Given the description of an element on the screen output the (x, y) to click on. 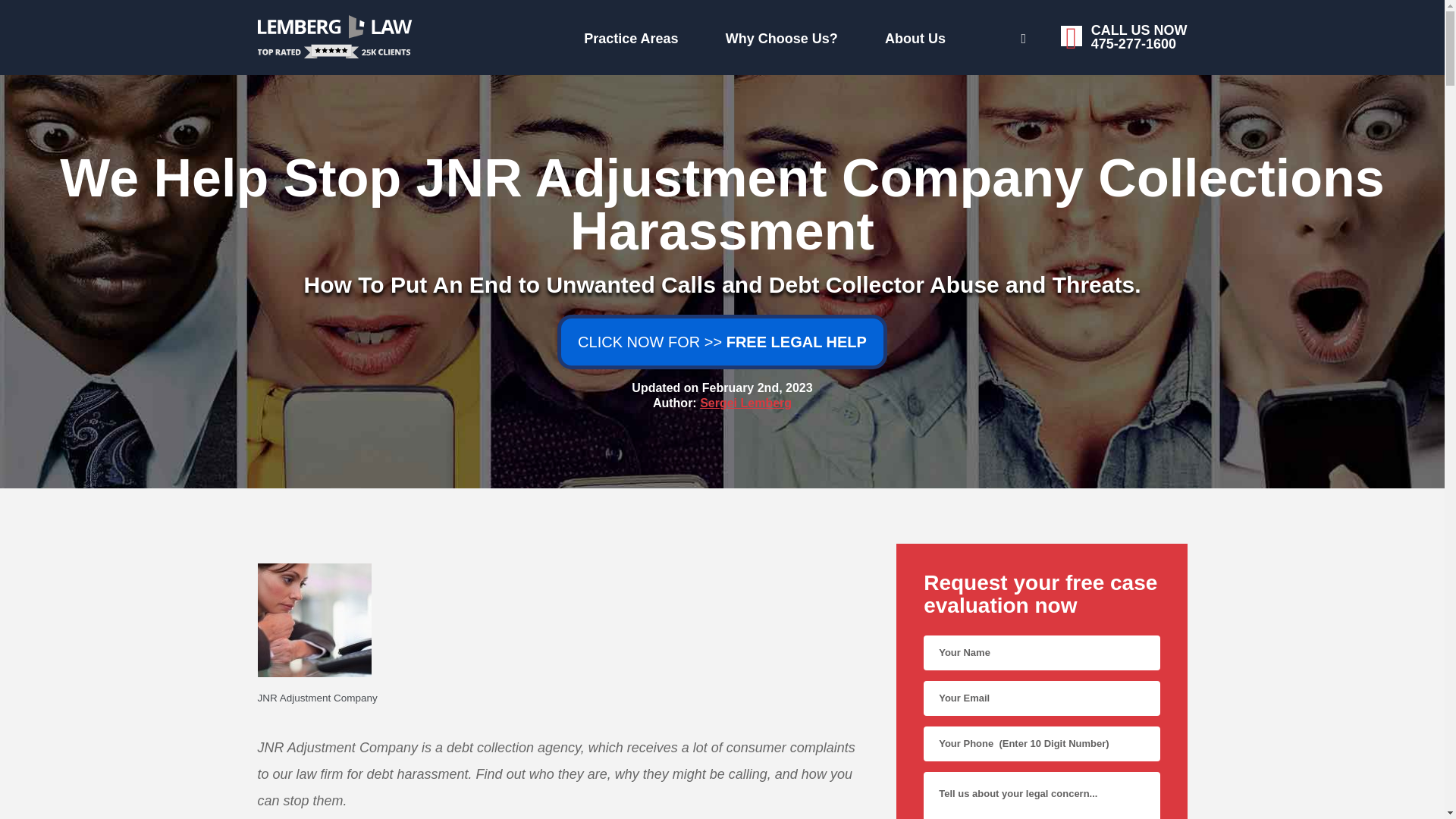
About Us (760, 35)
Sergei Lemberg (968, 35)
Practice Areas (746, 402)
JNR Adjustment Company (475, 35)
Why Choose Us? (563, 698)
